Given the description of an element on the screen output the (x, y) to click on. 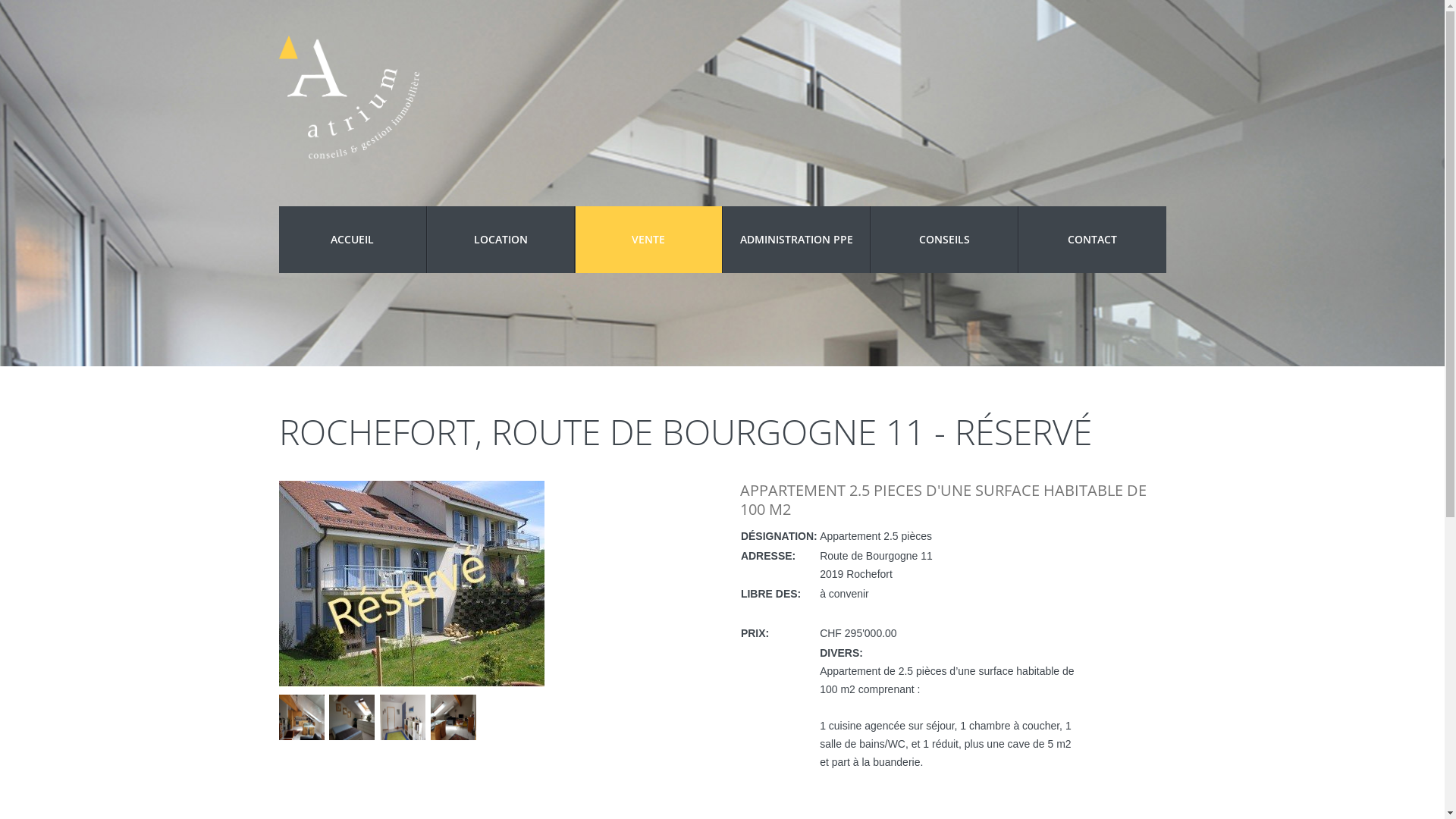
ADMINISTRATION PPE Element type: text (795, 239)
CONTACT Element type: text (1091, 239)
VENTE Element type: text (648, 239)
LOCATION Element type: text (500, 239)
CONSEILS Element type: text (944, 239)
ACCUEIL Element type: text (352, 239)
